Given the description of an element on the screen output the (x, y) to click on. 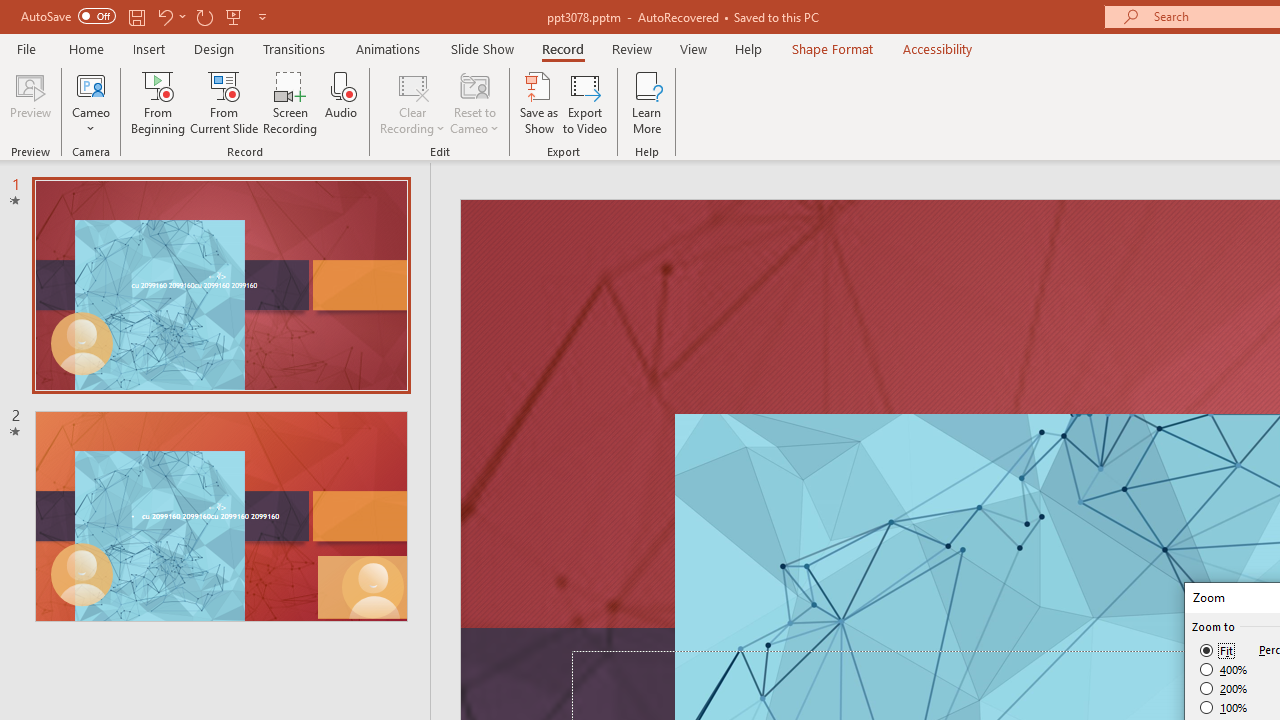
Learn More (646, 102)
Cameo (91, 102)
Preview (30, 102)
Accessibility (937, 48)
Save as Show (539, 102)
